Given the description of an element on the screen output the (x, y) to click on. 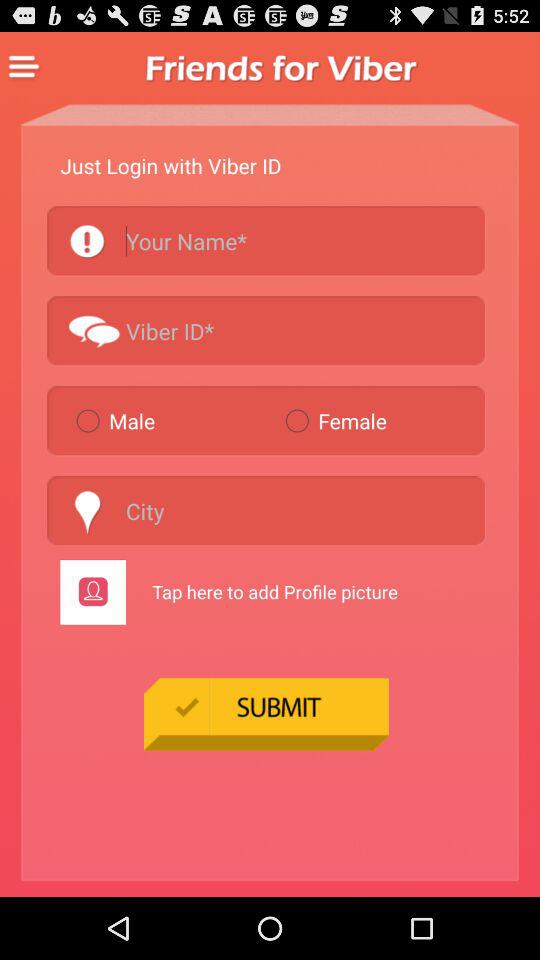
enter viber id (266, 330)
